Given the description of an element on the screen output the (x, y) to click on. 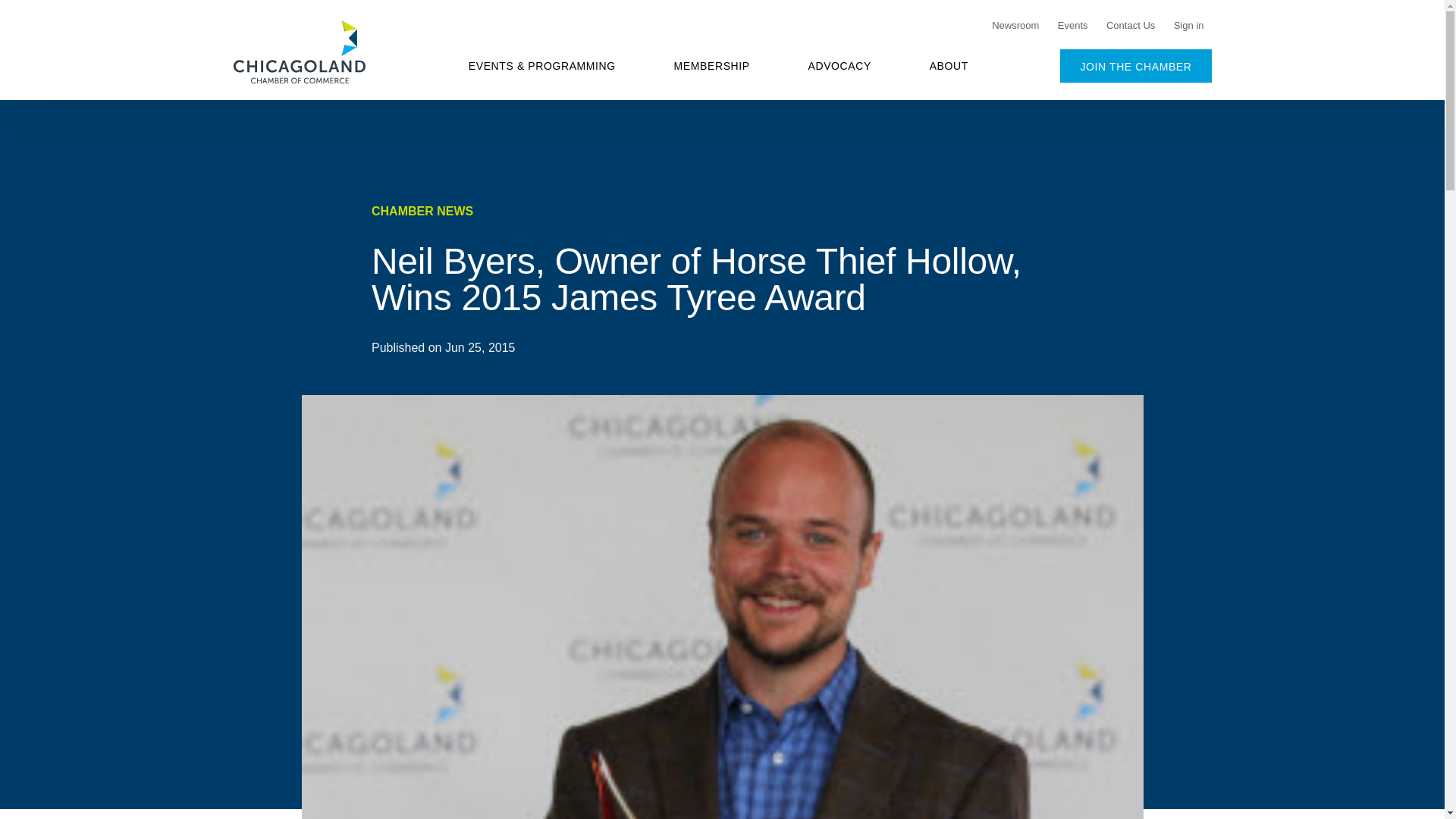
Contact Us (1130, 25)
Newsroom (1015, 25)
Search (1154, 65)
Sign in (1188, 25)
MEMBERSHIP (711, 65)
Events (1072, 25)
